Given the description of an element on the screen output the (x, y) to click on. 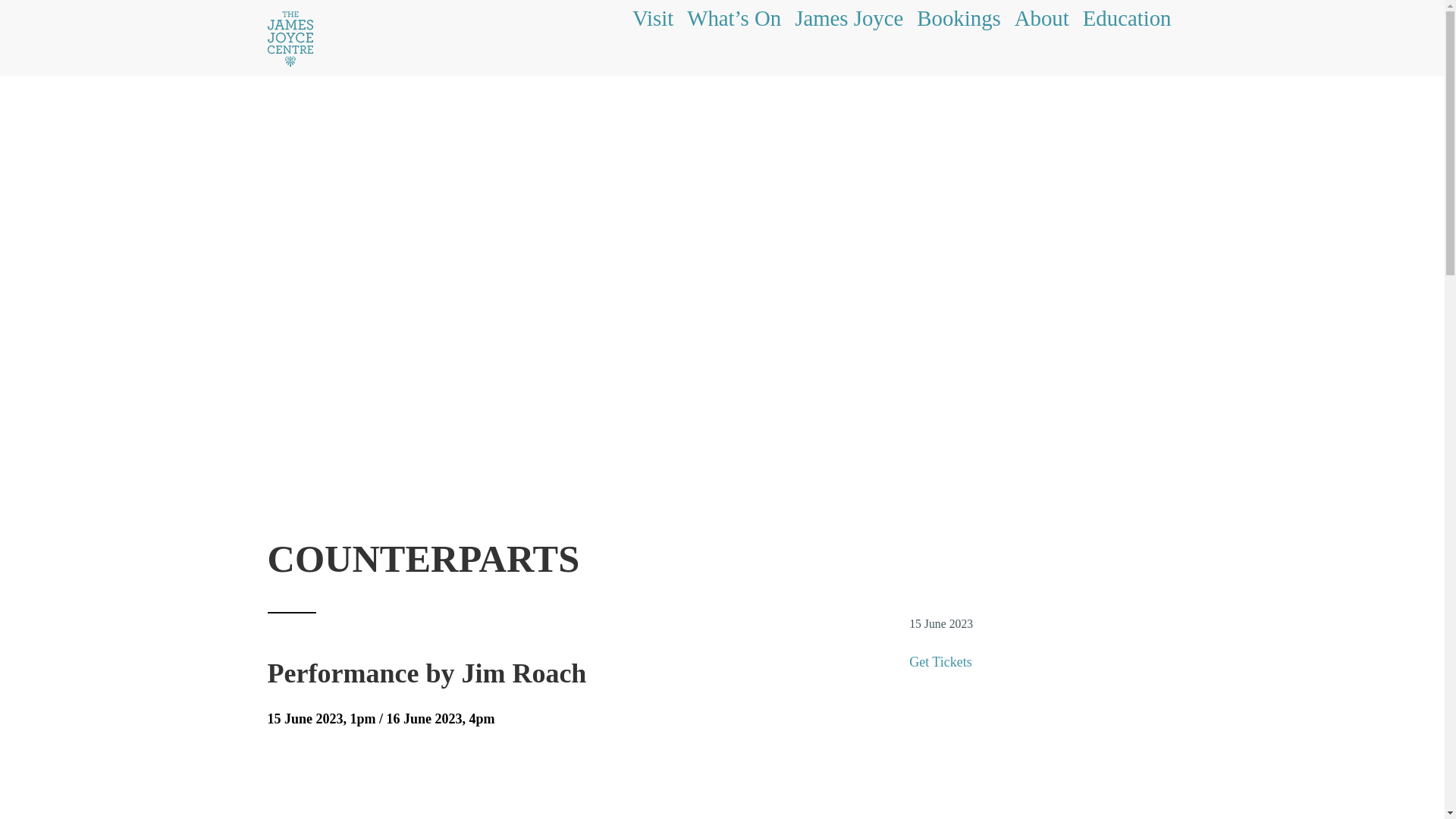
Get Tickets (940, 661)
About (1042, 24)
Get Tickets (940, 661)
James Joyce (848, 24)
15 June 2023 (940, 623)
Visit (652, 24)
Education (1127, 24)
Bookings (958, 24)
